Given the description of an element on the screen output the (x, y) to click on. 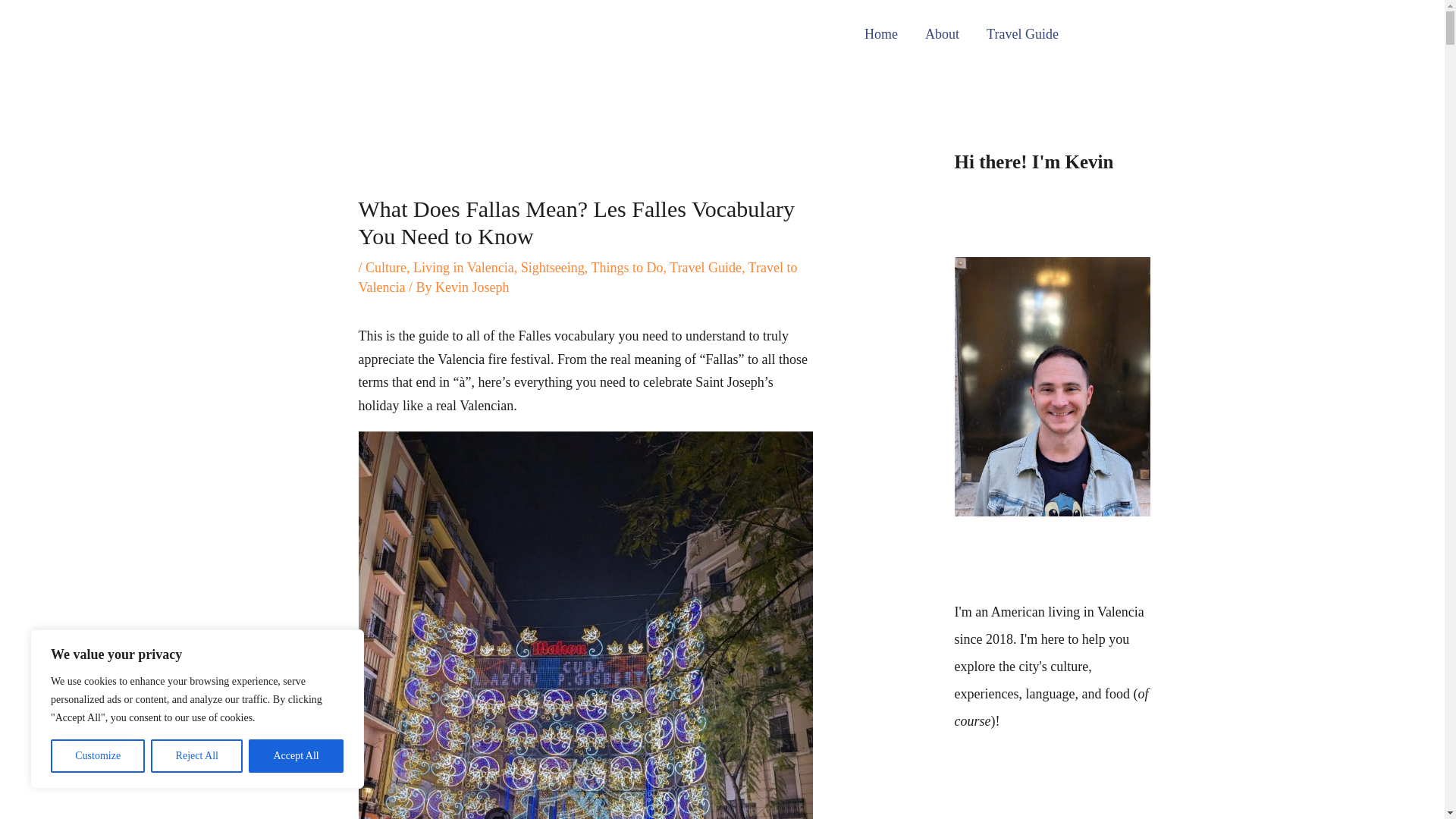
Sightseeing (553, 267)
Home (880, 33)
Culture (385, 267)
Things to Do (626, 267)
Travel Guide (1021, 33)
Accept All (295, 756)
View all posts by Kevin Joseph (472, 287)
Kevin Joseph (472, 287)
Customize (97, 756)
Reject All (197, 756)
About (941, 33)
Travel Guide (705, 267)
Living in Valencia (463, 267)
